Given the description of an element on the screen output the (x, y) to click on. 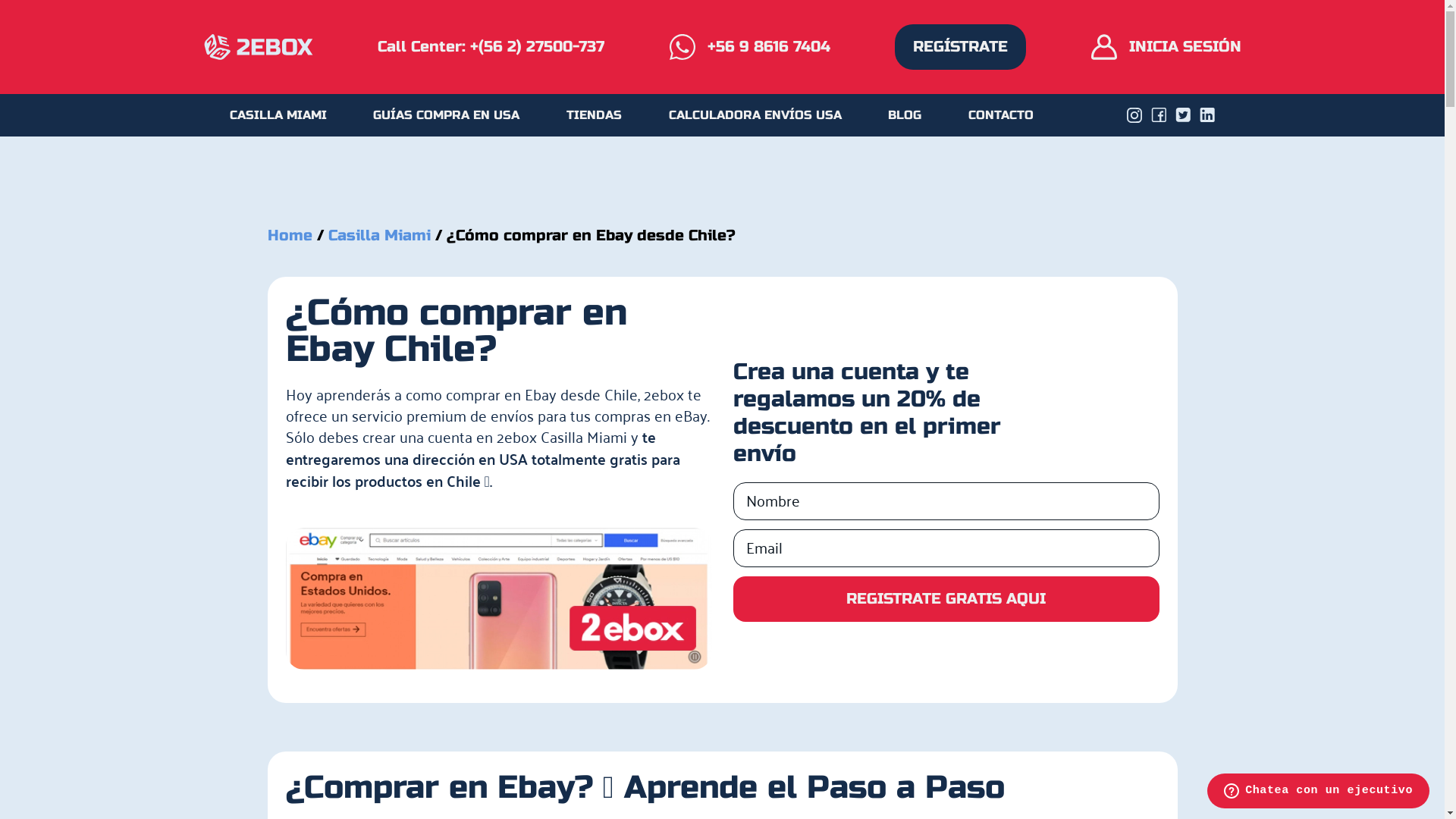
instagram Element type: hover (1134, 114)
twitter Element type: hover (1182, 114)
BLOG Element type: text (904, 114)
+(56 2) 27500-737 Element type: text (537, 46)
TIENDAS Element type: text (593, 114)
facebook Element type: hover (1158, 114)
CASILLA MIAMI Element type: text (277, 114)
Home Element type: text (291, 234)
REGISTRATE GRATIS AQUI Element type: text (945, 598)
+56 9 8616 7404 Element type: text (748, 46)
Opens a widget where you can find more information Element type: hover (1318, 792)
linkedin Element type: hover (1206, 114)
Casilla Miami Element type: text (378, 234)
CONTACTO Element type: text (1000, 114)
